Given the description of an element on the screen output the (x, y) to click on. 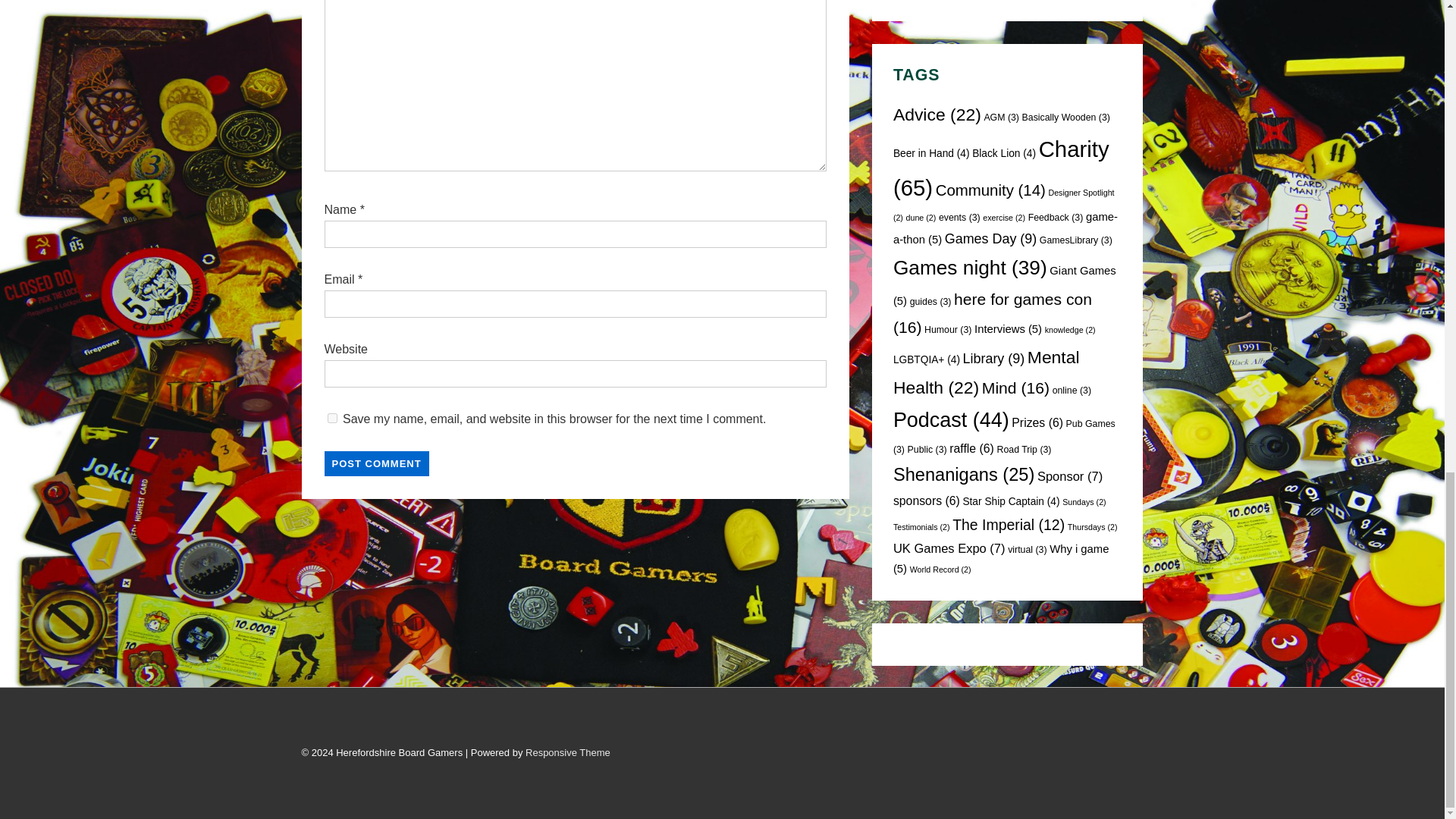
yes (332, 418)
Post Comment (376, 463)
